Given the description of an element on the screen output the (x, y) to click on. 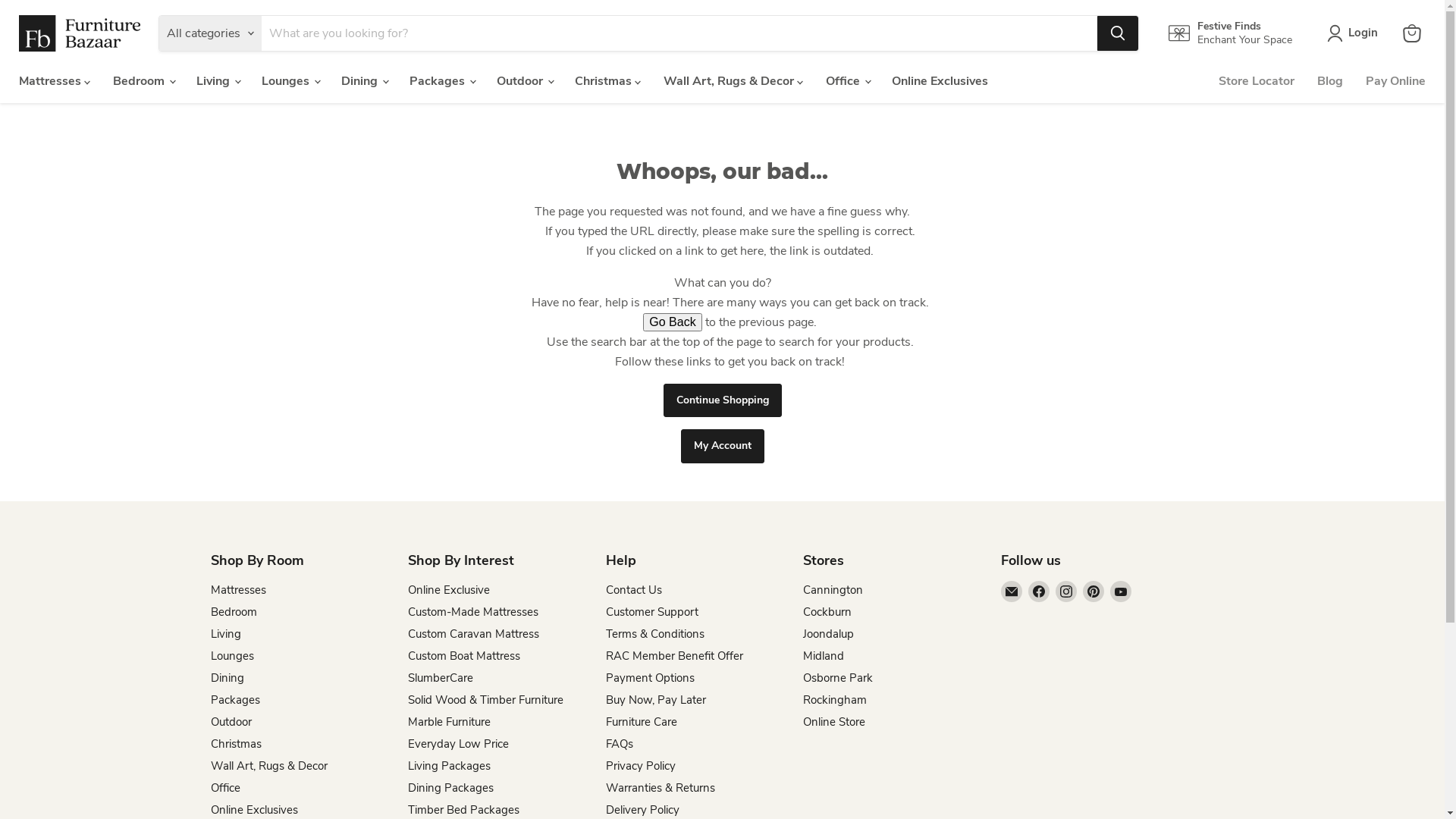
RAC Member Benefit Offer Element type: text (673, 655)
Warranties & Returns Element type: text (659, 787)
Online Exclusive Element type: text (448, 589)
Terms & Conditions Element type: text (654, 633)
Osborne Park Element type: text (837, 677)
Store Locator Element type: text (1256, 81)
Bedroom Element type: text (233, 611)
Delivery Policy Element type: text (641, 809)
Dining Element type: text (227, 677)
FAQs Element type: text (618, 743)
Find us on YouTube Element type: text (1120, 591)
Payment Options Element type: text (649, 677)
Customer Support Element type: text (651, 611)
Email Furniture Bazaar Element type: text (1011, 591)
Solid Wood & Timber Furniture Element type: text (485, 699)
Pay Online Element type: text (1395, 81)
My Account Element type: text (722, 446)
Custom Boat Mattress Element type: text (463, 655)
Living Packages Element type: text (448, 765)
Marble Furniture Element type: text (448, 721)
Privacy Policy Element type: text (639, 765)
Joondalup Element type: text (828, 633)
Find us on Pinterest Element type: text (1093, 591)
Everyday Low Price Element type: text (457, 743)
Office Element type: text (225, 787)
Lounges Element type: text (232, 655)
Custom-Made Mattresses Element type: text (472, 611)
Outdoor Element type: text (230, 721)
Custom Caravan Mattress Element type: text (473, 633)
Find us on Facebook Element type: text (1038, 591)
Living Element type: text (225, 633)
Buy Now, Pay Later Element type: text (655, 699)
Contact Us Element type: text (633, 589)
Find us on Instagram Element type: text (1065, 591)
Mattresses Element type: text (238, 589)
Online Exclusives Element type: text (254, 809)
Timber Bed Packages Element type: text (463, 809)
Continue Shopping Element type: text (721, 400)
Packages Element type: text (235, 699)
SlumberCare Element type: text (440, 677)
Online Store Element type: text (834, 721)
Midland Element type: text (823, 655)
Furniture Care Element type: text (640, 721)
Rockingham Element type: text (834, 699)
Cannington Element type: text (832, 589)
View cart Element type: text (1411, 33)
Go Back Element type: text (672, 321)
Wall Art, Rugs & Decor Element type: text (268, 765)
Online Exclusives Element type: text (939, 81)
Christmas Element type: text (235, 743)
Blog Element type: text (1329, 81)
Dining Packages Element type: text (450, 787)
Login Element type: text (1355, 33)
Cockburn Element type: text (827, 611)
